Given the description of an element on the screen output the (x, y) to click on. 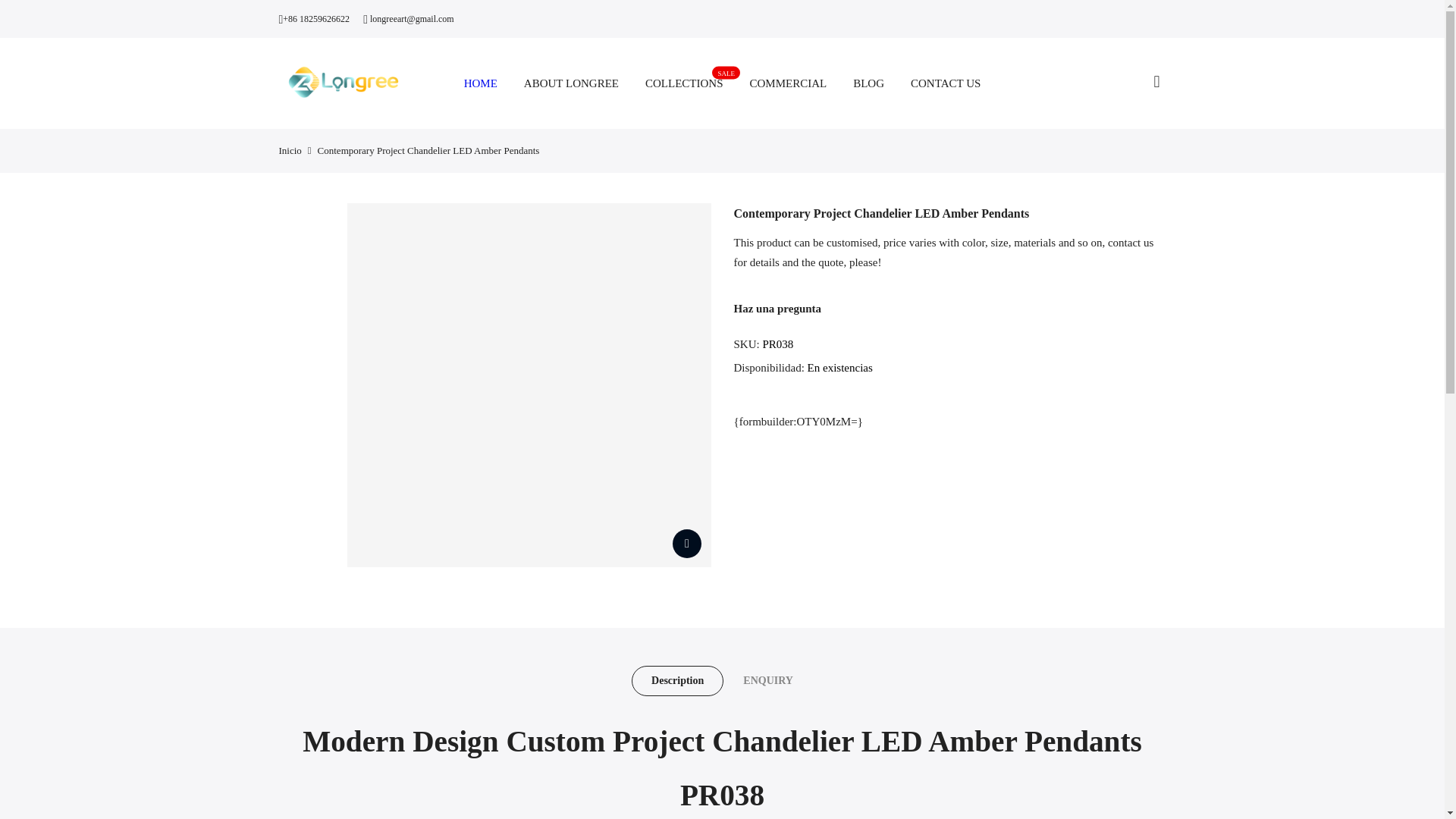
COMMERCIAL (788, 82)
Inicio (290, 150)
ENQUIRY (767, 680)
Haz una pregunta (777, 308)
ABOUT LONGREE (683, 82)
Longree (571, 82)
Contact Us (856, 794)
ARCHITECTURAL LIGHTINGS (713, 517)
CONTACT US (584, 544)
